Given the description of an element on the screen output the (x, y) to click on. 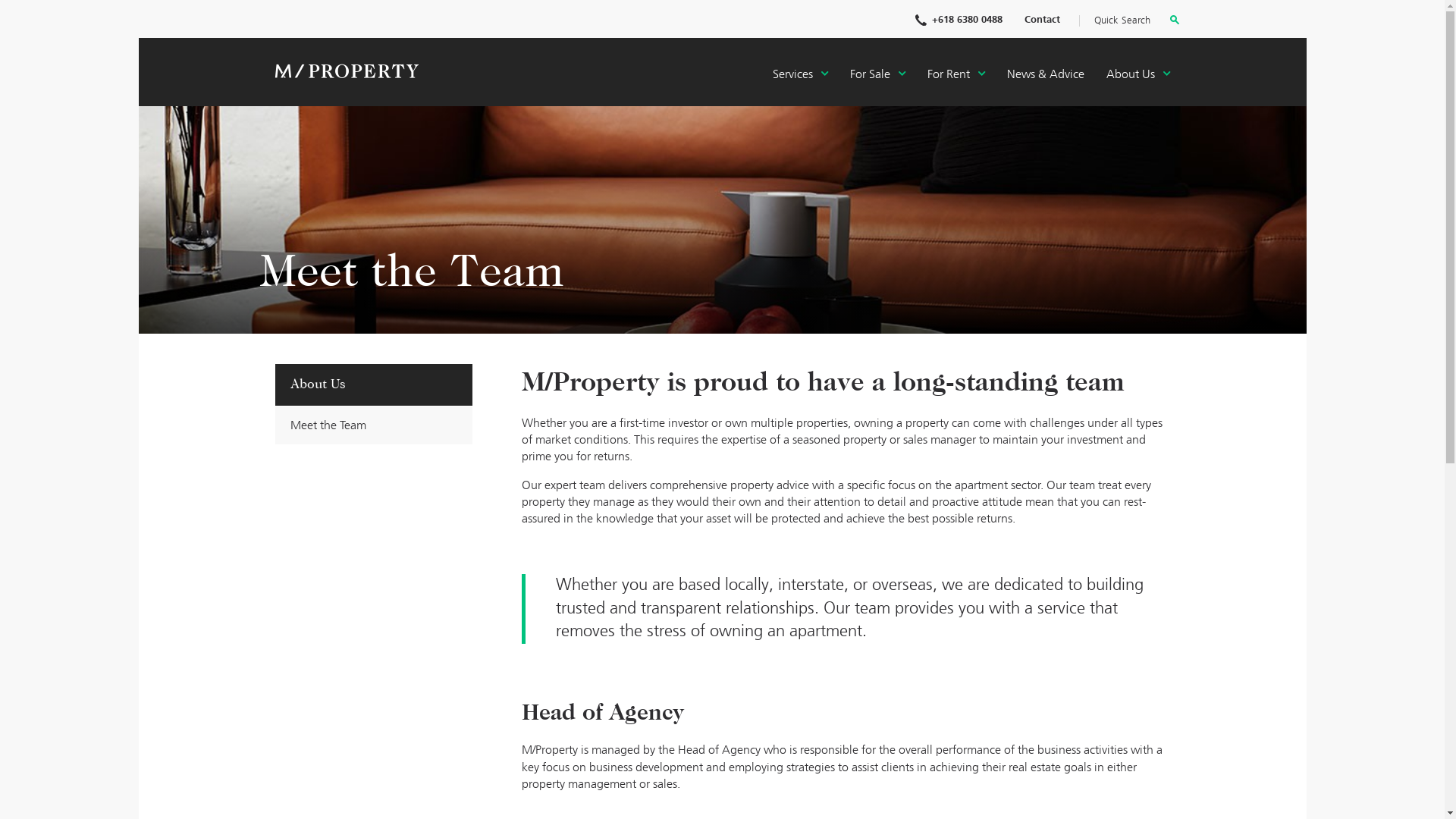
About Us Element type: text (1137, 74)
About Us Element type: text (372, 385)
For Rent Element type: text (955, 74)
News & Advice Element type: text (1045, 74)
+618 6380 0488 Element type: text (957, 20)
Services Element type: text (799, 74)
Search Element type: text (1173, 21)
For Sale Element type: text (876, 74)
Meet the Team Element type: text (372, 424)
